Given the description of an element on the screen output the (x, y) to click on. 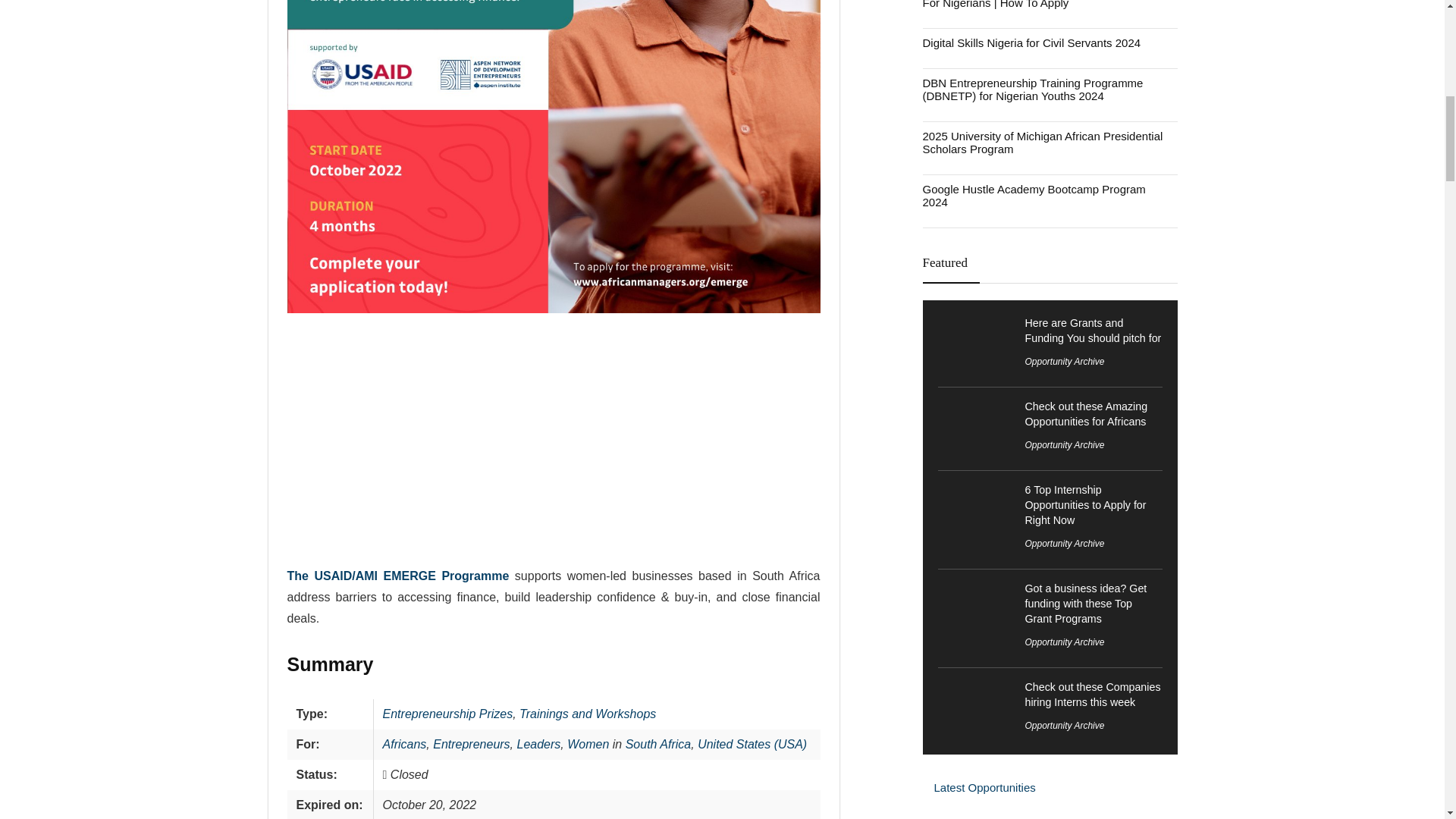
Leaders (538, 744)
Women (587, 744)
Trainings and Workshops (587, 713)
South Africa (658, 744)
Africans (404, 744)
Entrepreneurship Prizes (447, 713)
Entrepreneurs (470, 744)
